Given the description of an element on the screen output the (x, y) to click on. 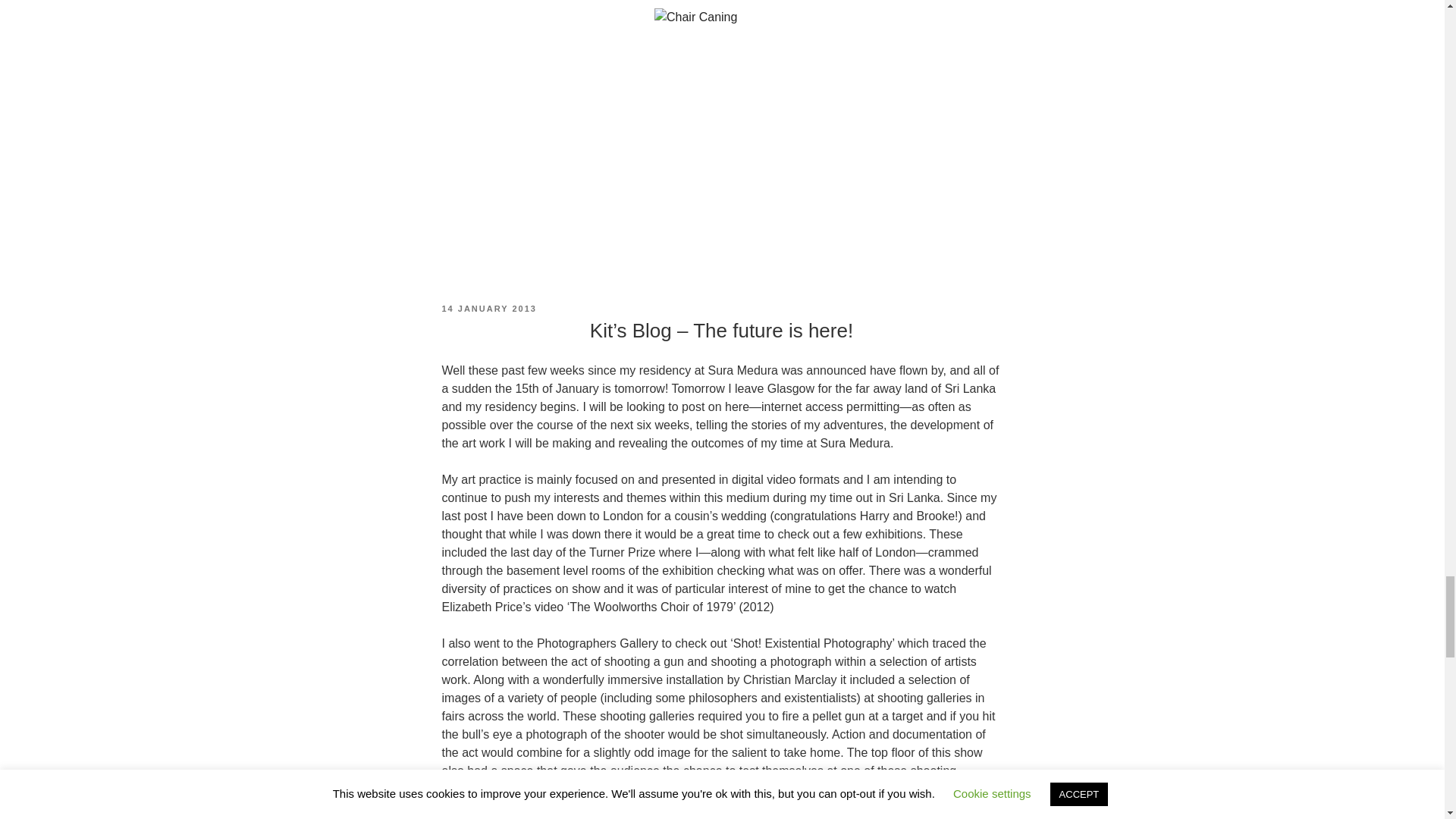
14 JANUARY 2013 (488, 307)
